Given the description of an element on the screen output the (x, y) to click on. 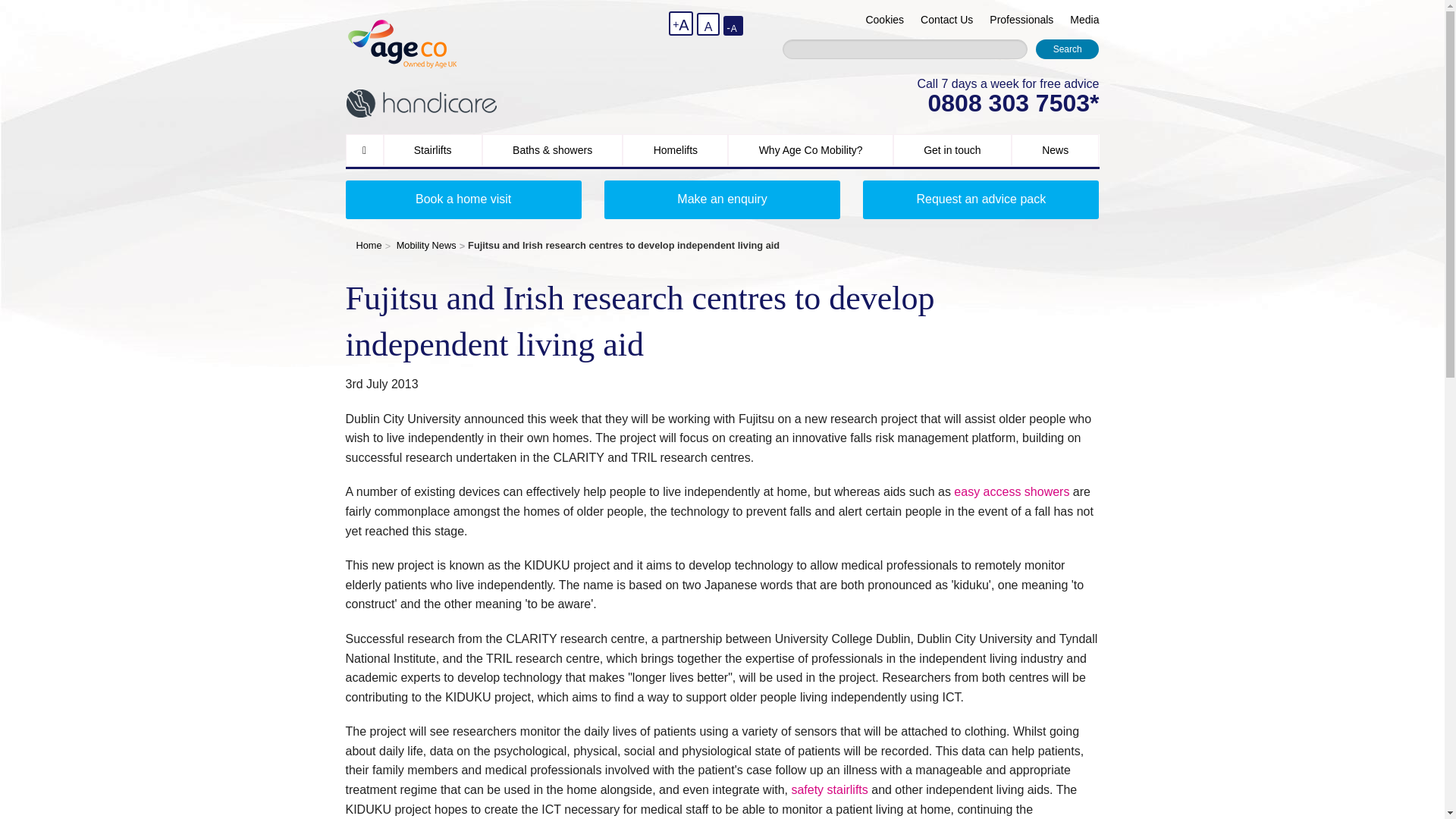
Request an advice pack (981, 199)
-A (732, 25)
A (708, 24)
Professionals (1021, 19)
Cookies (884, 19)
Book a home visit (463, 199)
Media (1084, 19)
easy access showers (1010, 491)
Make an enquiry (722, 199)
News (1055, 149)
safety stairlifts (828, 789)
Search (1067, 48)
Stairlifts (432, 149)
Mobility News (426, 244)
Why Age Co Mobility? (810, 149)
